Given the description of an element on the screen output the (x, y) to click on. 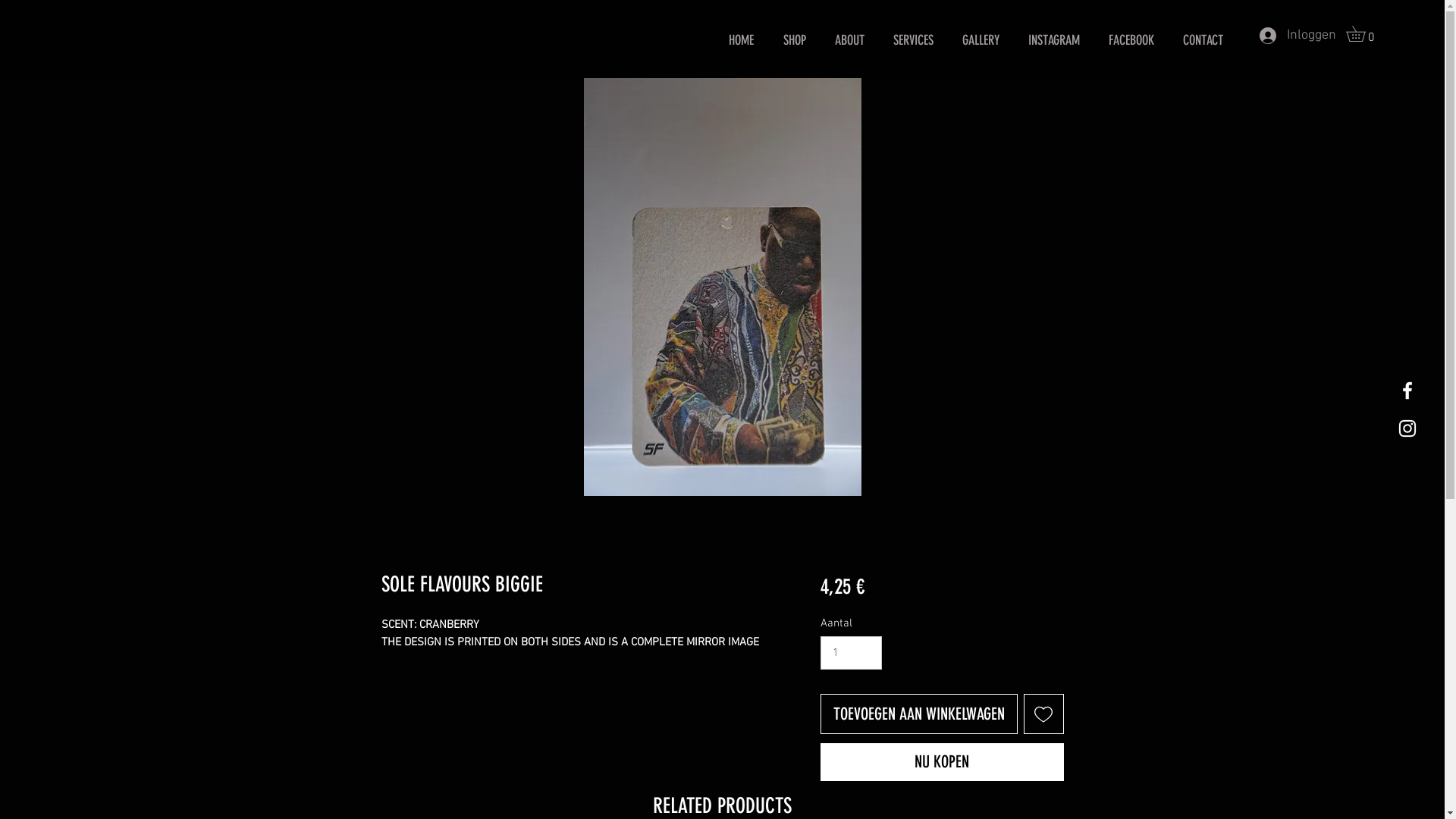
0 Element type: text (1363, 33)
INSTAGRAM Element type: text (1053, 40)
TOEVOEGEN AAN WINKELWAGEN Element type: text (918, 713)
CONTACT Element type: text (1202, 40)
SERVICES Element type: text (912, 40)
FACEBOOK Element type: text (1131, 40)
GALLERY Element type: text (980, 40)
Inloggen Element type: text (1293, 35)
ABOUT Element type: text (849, 40)
HOME Element type: text (742, 40)
SHOP Element type: text (794, 40)
NU KOPEN Element type: text (941, 762)
